Given the description of an element on the screen output the (x, y) to click on. 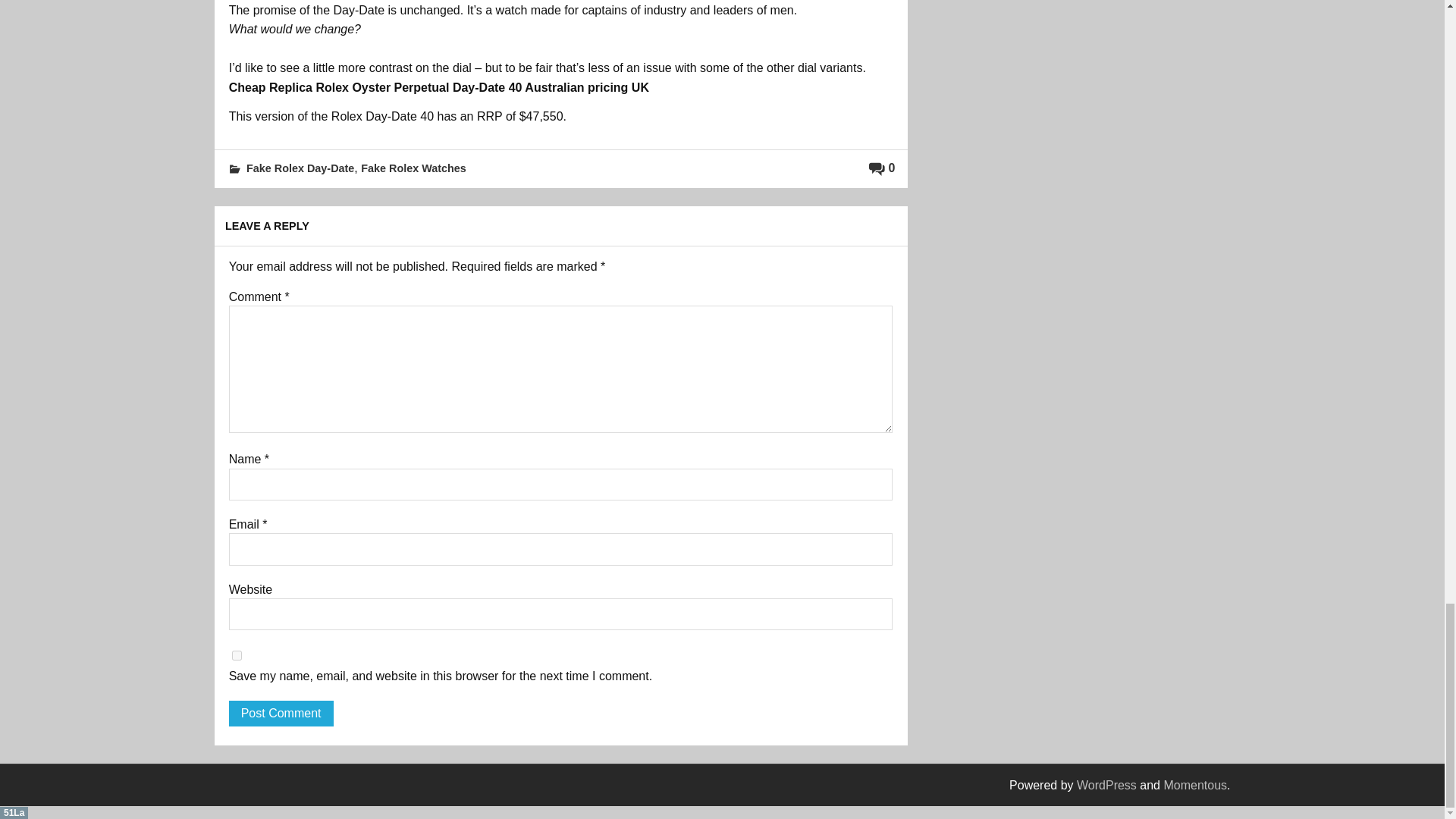
Post Comment (280, 713)
Fake Rolex Day-Date (299, 168)
0 (882, 167)
Fake Rolex Watches (413, 168)
yes (236, 655)
WordPress (1107, 784)
Post Comment (280, 713)
Momentous WordPress Theme (1195, 784)
